Given the description of an element on the screen output the (x, y) to click on. 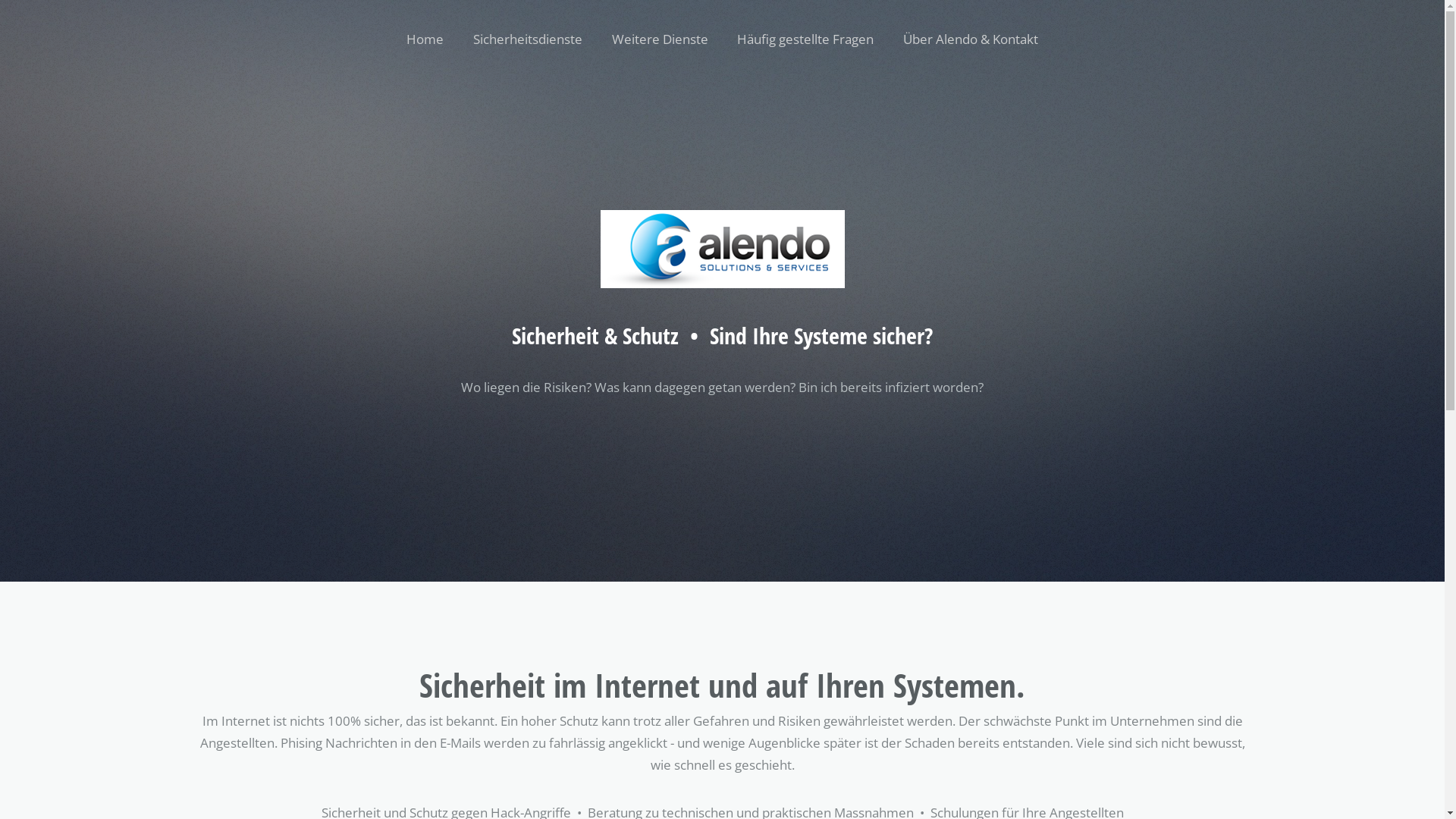
Weitere Dienste Element type: text (659, 38)
Home Element type: text (424, 38)
Sicherheitsdienste Element type: text (527, 38)
